Given the description of an element on the screen output the (x, y) to click on. 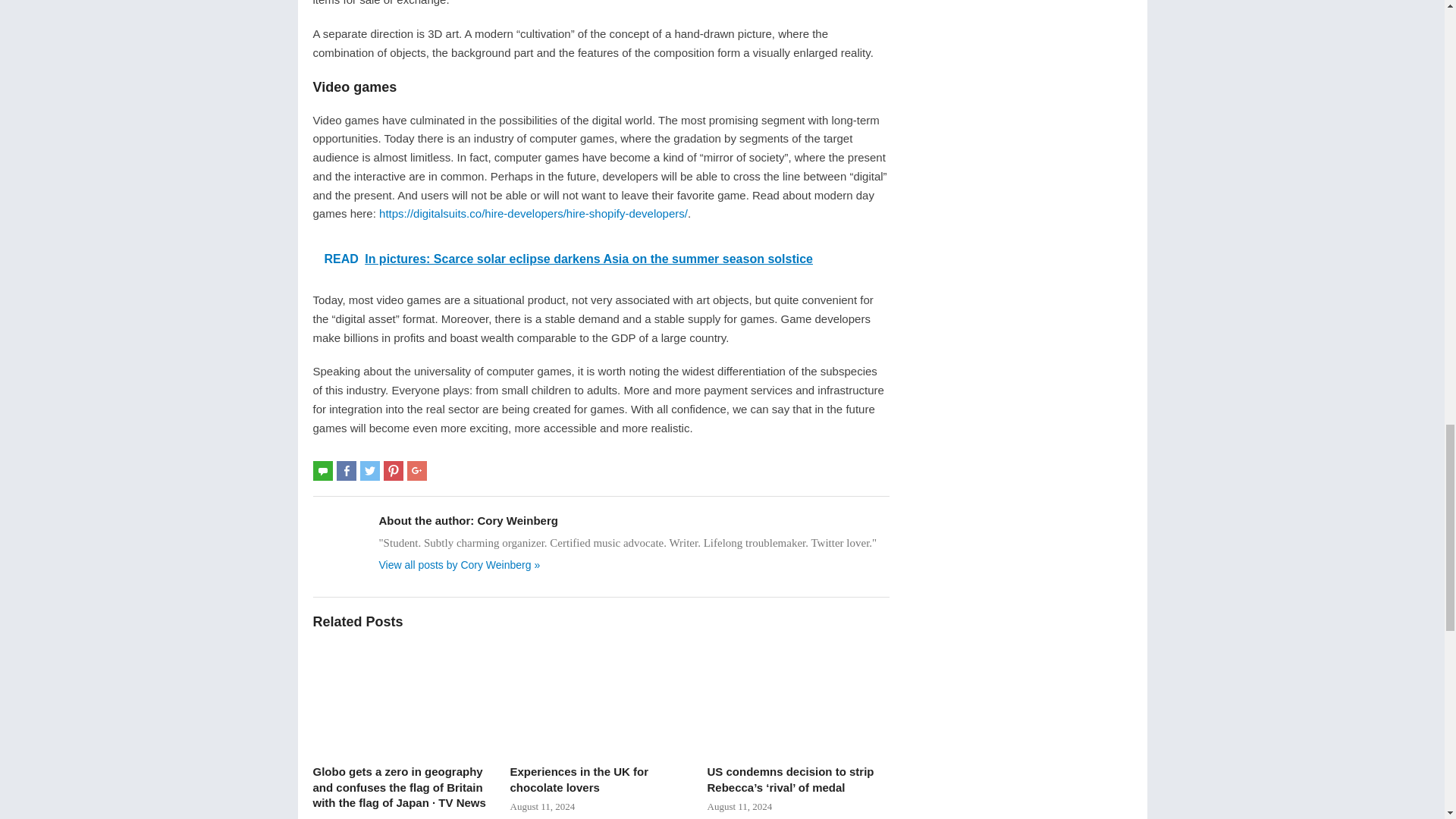
Experiences in the UK for chocolate lovers (600, 698)
Share on Twitter (369, 470)
Share on Facebook (346, 470)
Share on Pinterest (393, 470)
